Given the description of an element on the screen output the (x, y) to click on. 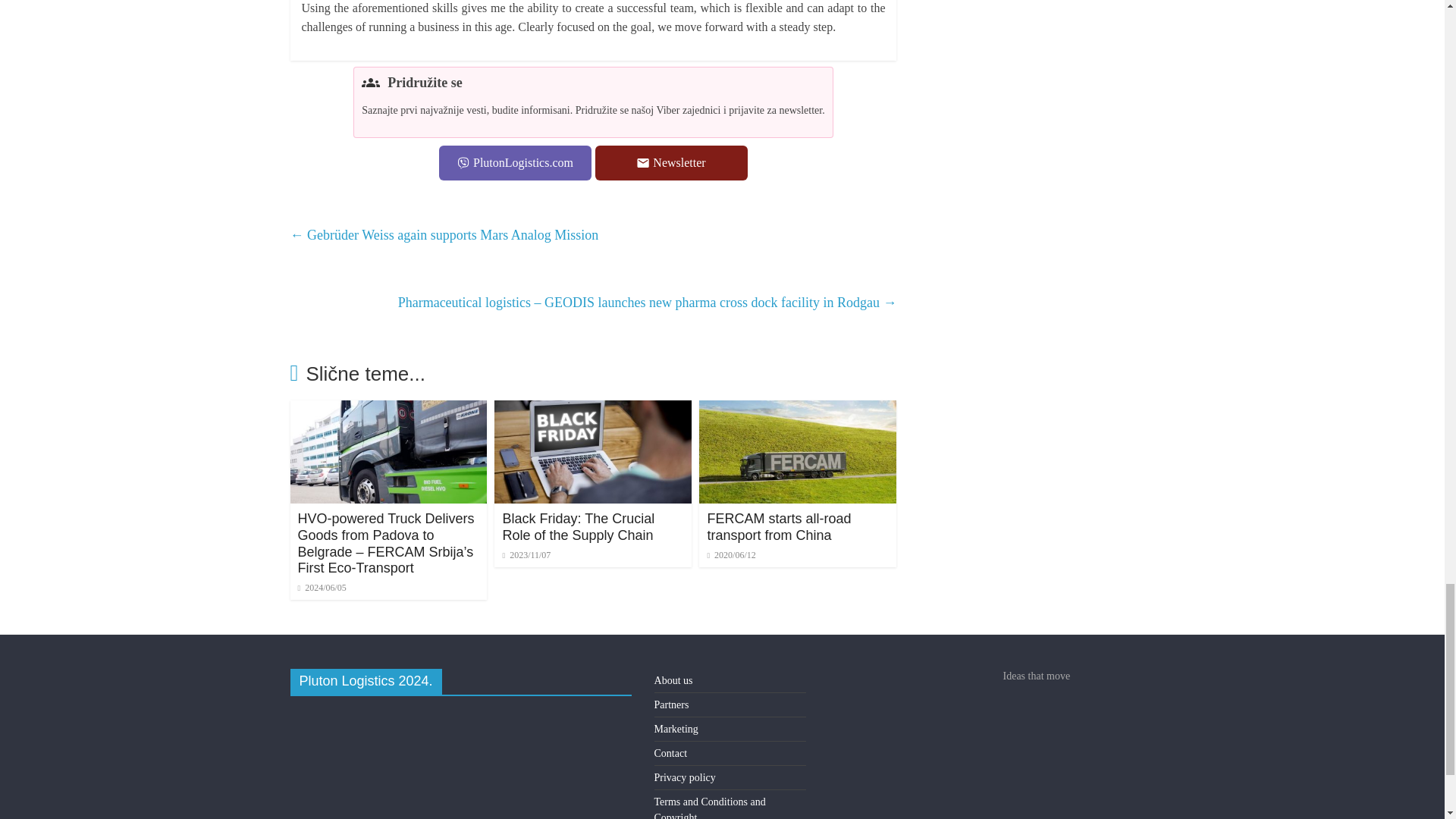
Black Friday: The Crucial Role of the Supply Chain (593, 409)
Black Friday: The Crucial Role of the Supply Chain (577, 526)
12:00 (321, 587)
